Given the description of an element on the screen output the (x, y) to click on. 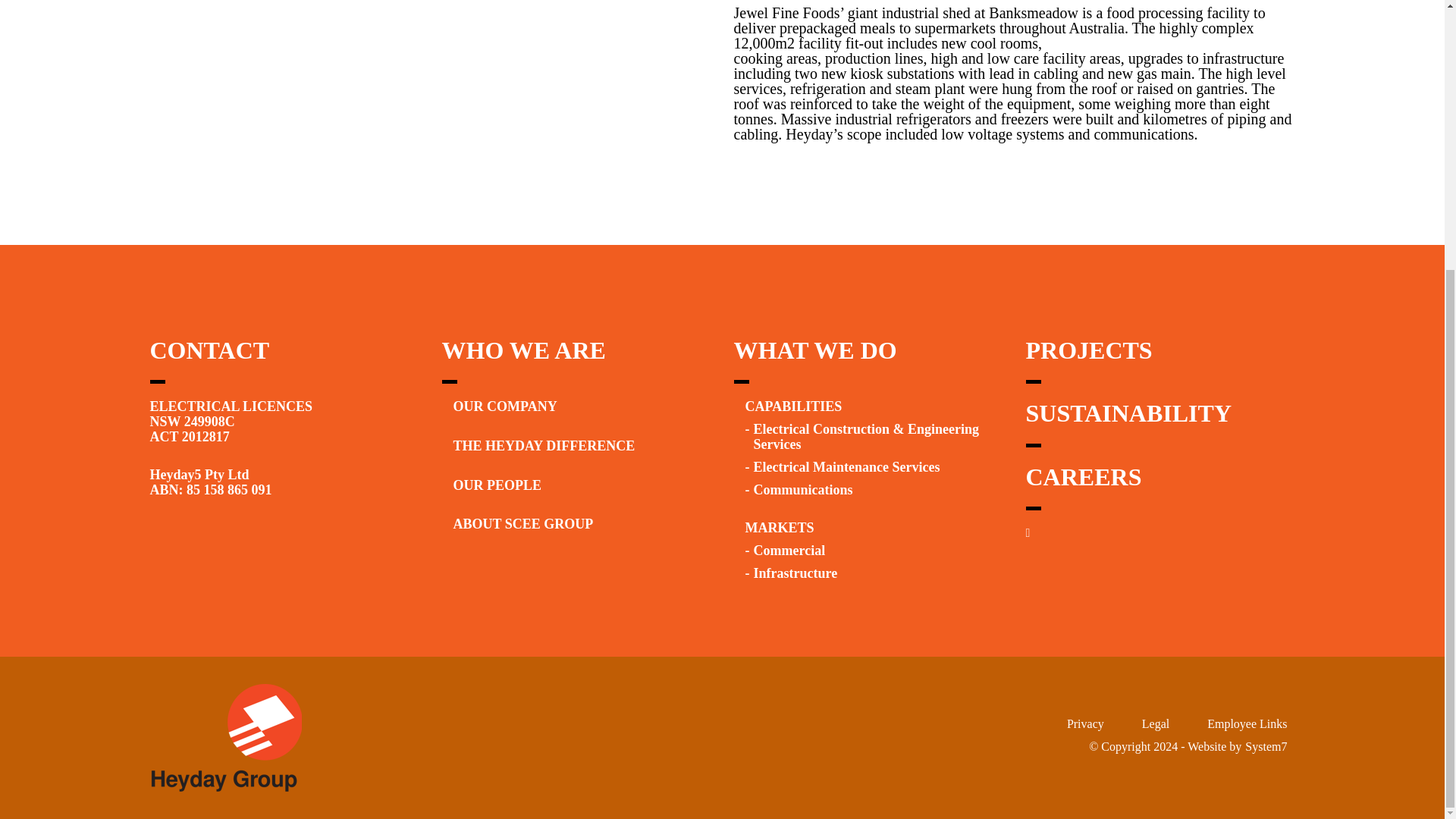
CONTACT (209, 349)
Commercial (789, 549)
WHO WE ARE (523, 349)
WHAT WE DO (814, 349)
ABOUT SCEE GROUP (523, 523)
OUR COMPANY (504, 406)
THE HEYDAY DIFFERENCE (543, 445)
OUR PEOPLE (496, 485)
Infrastructure (796, 572)
SUSTAINABILITY (1128, 412)
Electrical Maintenance Services (847, 467)
CAREERS (1083, 476)
Communications (803, 489)
PROJECTS (1088, 349)
